Given the description of an element on the screen output the (x, y) to click on. 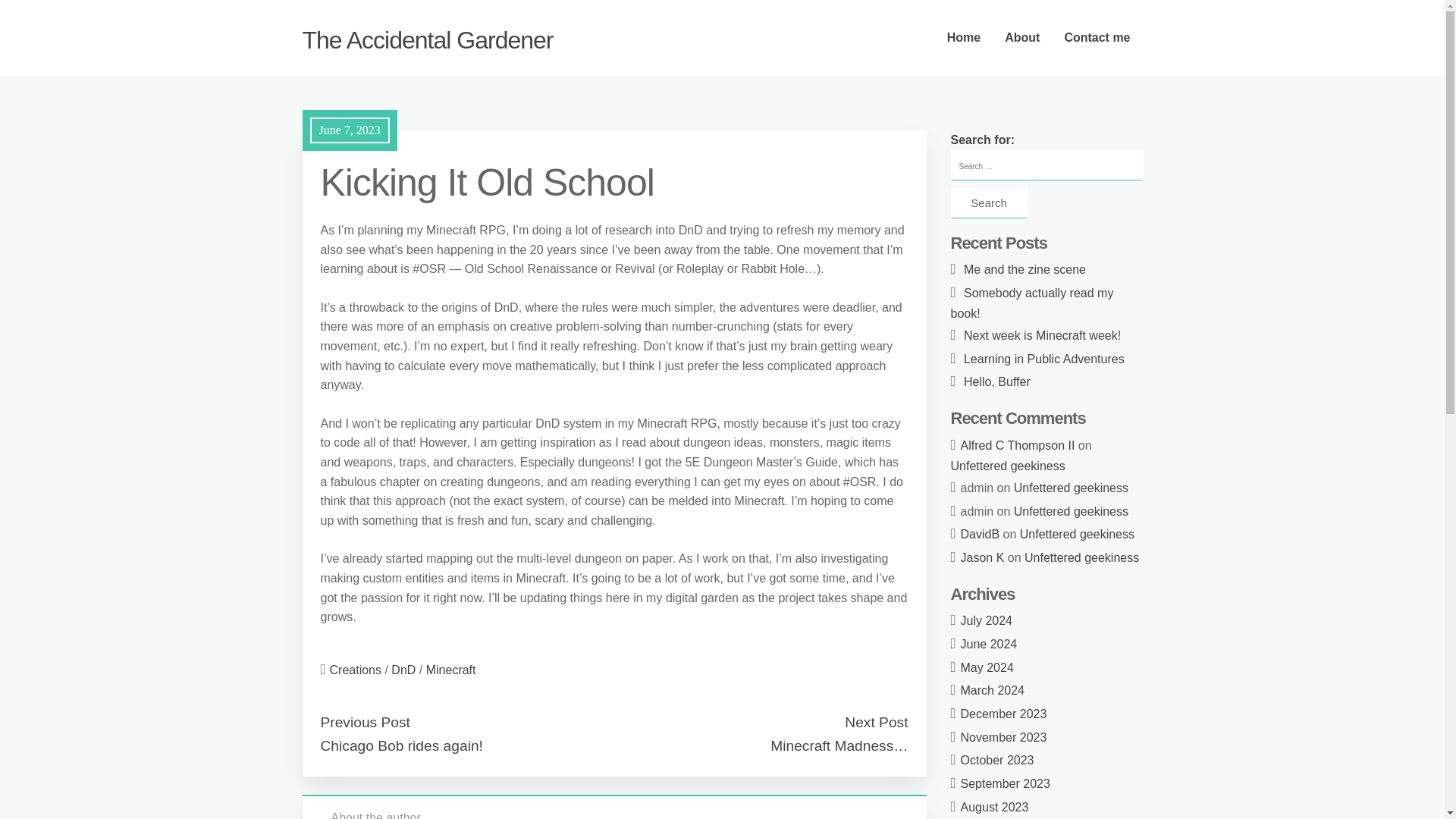
DavidB (980, 533)
Learning in Public Adventures (1043, 358)
March 2024 (992, 689)
Unfettered geekiness (1007, 465)
Alfred C Thompson II (1017, 445)
Unfettered geekiness (1081, 557)
Unfettered geekiness (1077, 533)
Unfettered geekiness (1070, 511)
Unfettered geekiness (1070, 487)
Jason K (982, 557)
